Given the description of an element on the screen output the (x, y) to click on. 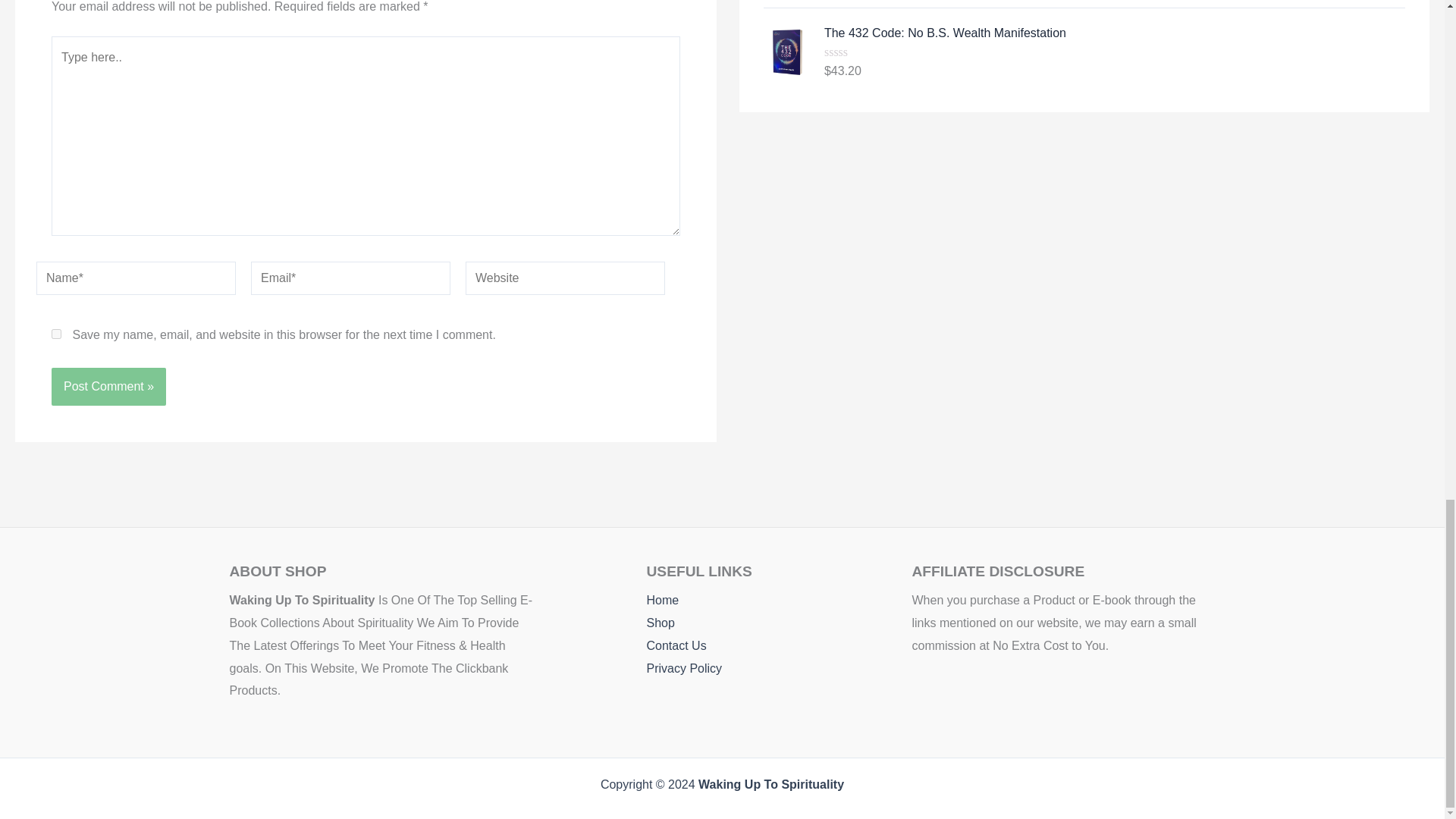
yes (55, 334)
